Given the description of an element on the screen output the (x, y) to click on. 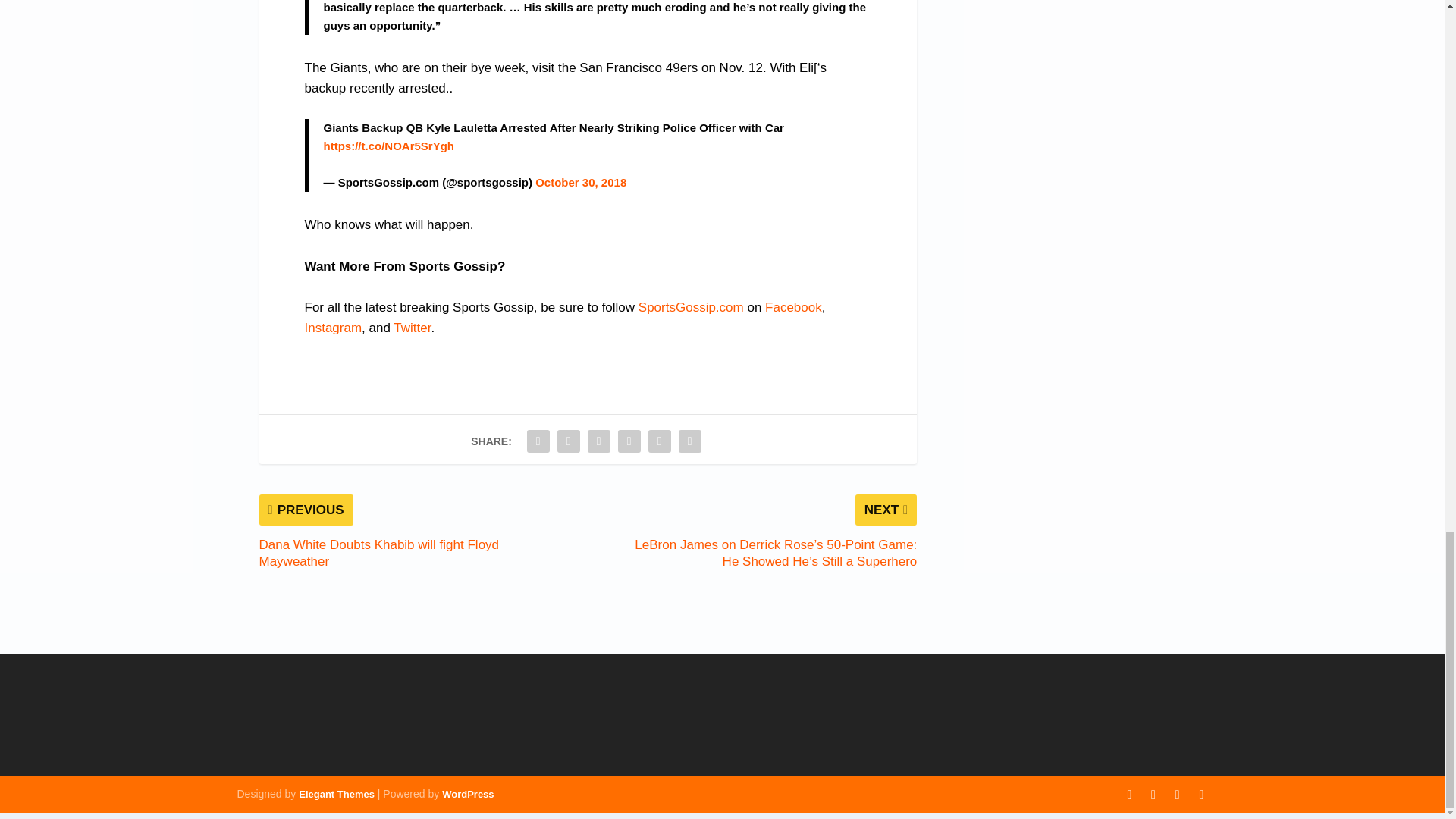
Premium WordPress Themes (336, 794)
Twitter (411, 327)
Facebook (793, 307)
SportsGossip.com (691, 307)
Instagram (333, 327)
October 30, 2018 (580, 182)
